Given the description of an element on the screen output the (x, y) to click on. 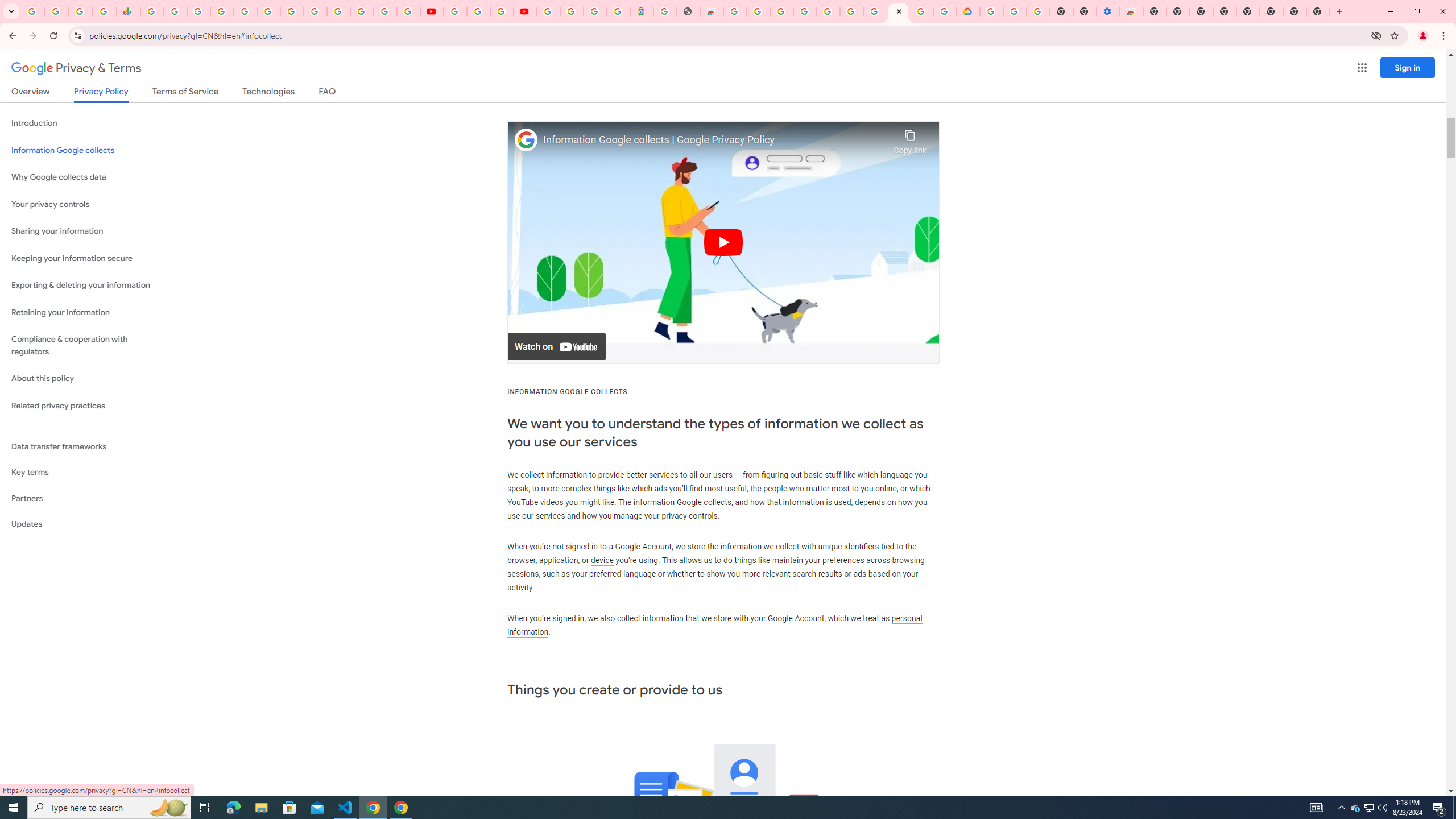
Atour Hotel - Google hotels (641, 11)
Why Google collects data (86, 176)
Chrome Web Store - Household (711, 11)
Sign in - Google Accounts (992, 11)
Content Creator Programs & Opportunities - YouTube Creators (524, 11)
Sign in - Google Accounts (547, 11)
